Given the description of an element on the screen output the (x, y) to click on. 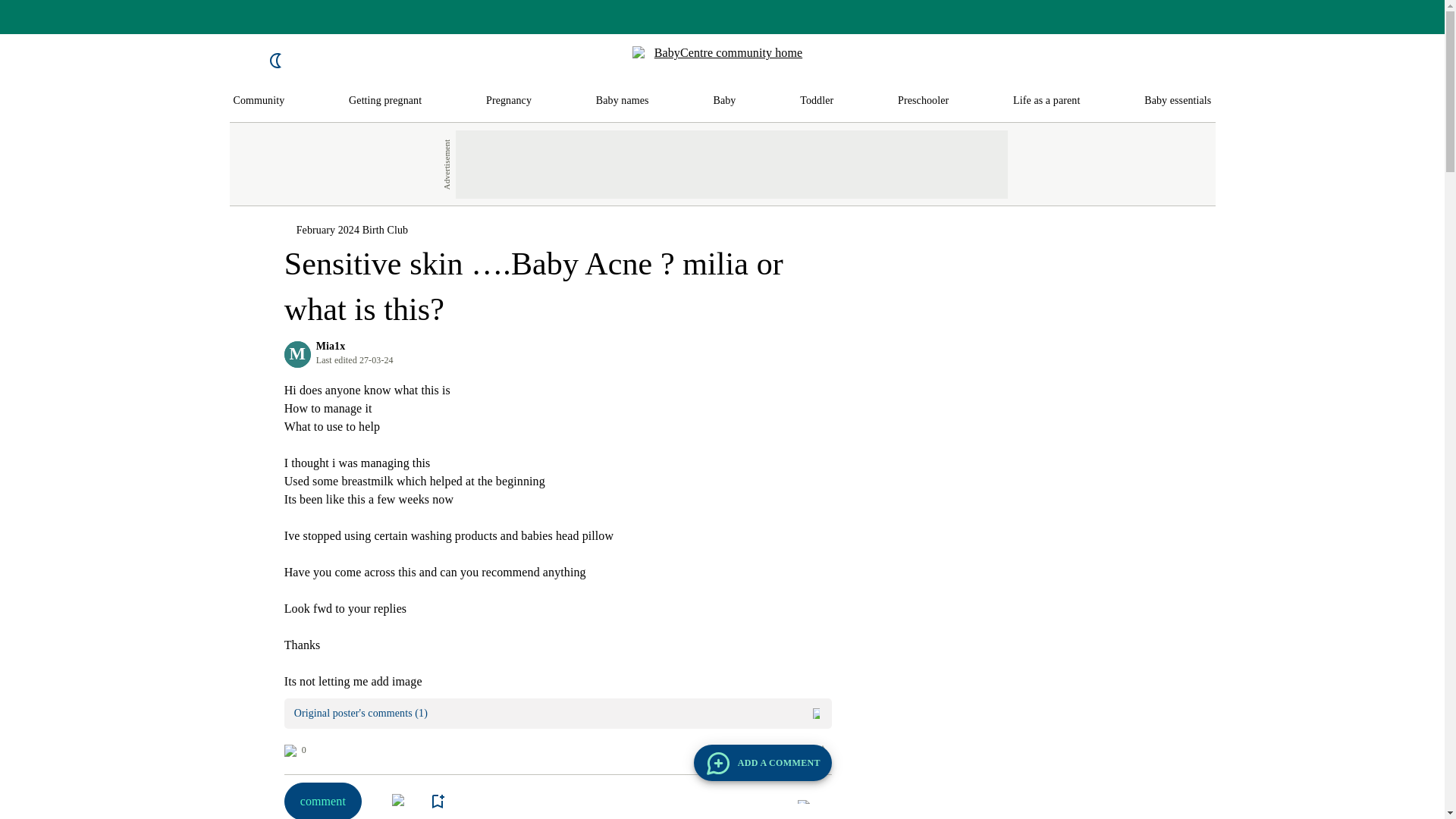
Toddler (815, 101)
Baby essentials (1177, 101)
Community (258, 101)
Baby (724, 101)
Baby names (622, 101)
Life as a parent (1046, 101)
Pregnancy (508, 101)
Preschooler (923, 101)
Getting pregnant (385, 101)
